Given the description of an element on the screen output the (x, y) to click on. 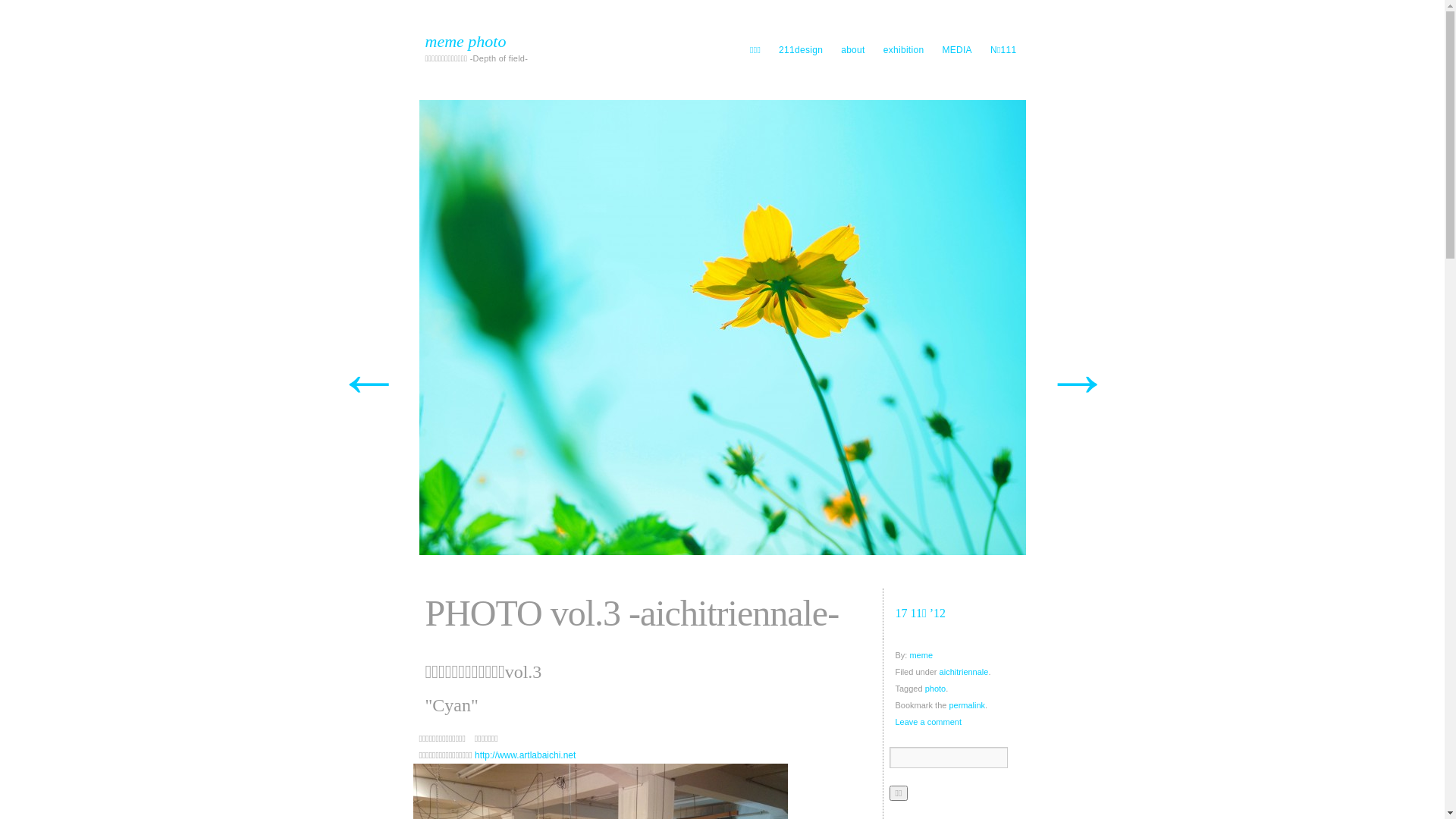
PHOTO vol.3 -aichitriennale- Element type: hover (721, 327)
http://www.artlabaichi.net Element type: text (524, 754)
about Element type: text (852, 49)
permalink Element type: text (966, 704)
aichitriennale Element type: text (963, 671)
photo Element type: text (935, 688)
meme photo Element type: text (528, 41)
meme Element type: text (920, 654)
Leave a comment Element type: text (956, 721)
211design Element type: text (800, 49)
MEDIA Element type: text (956, 49)
exhibition Element type: text (903, 49)
